Given the description of an element on the screen output the (x, y) to click on. 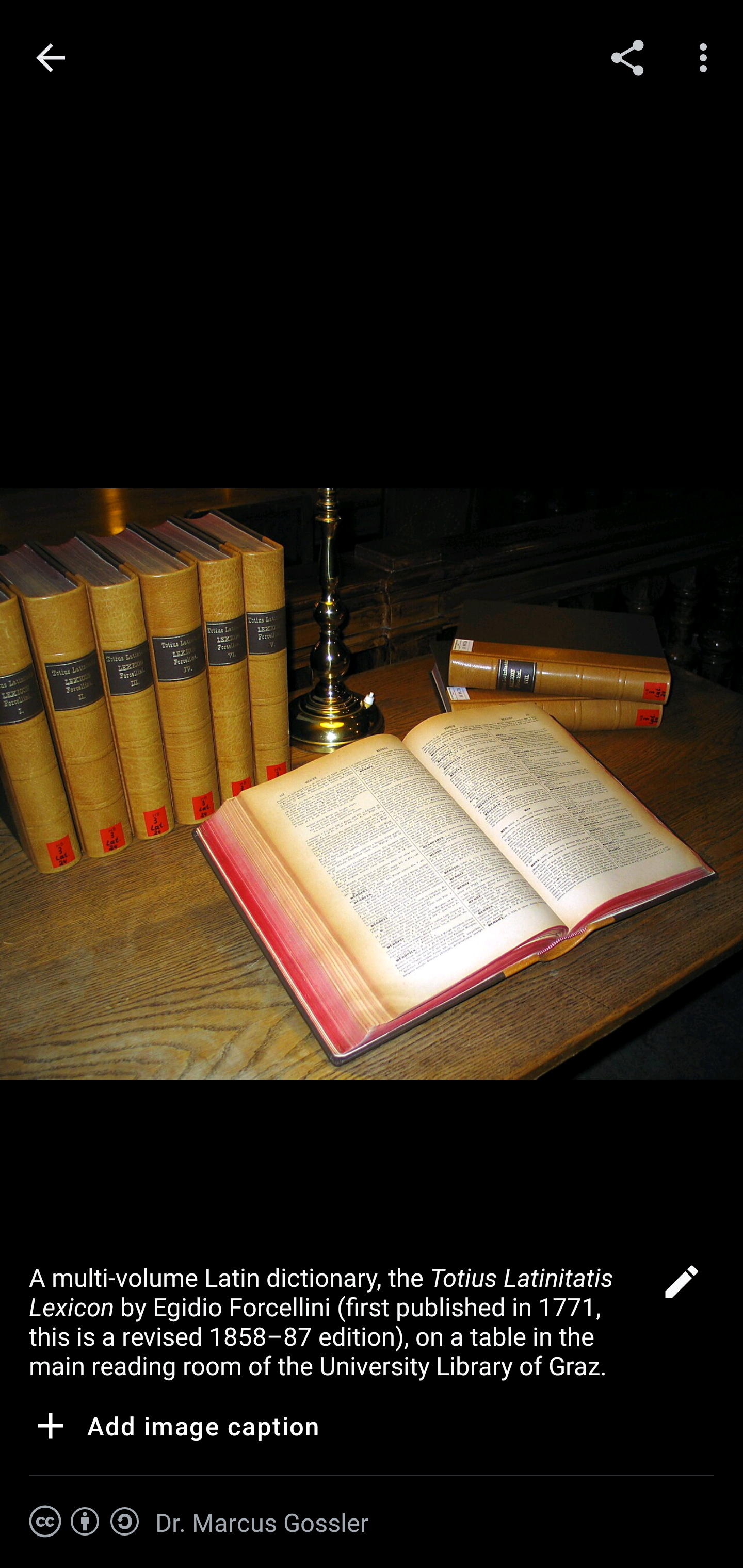
Navigate up (50, 57)
Share (626, 57)
More options (706, 57)
Edit image caption (681, 1286)
Add image caption (174, 1428)
CC BY-SA 3.0 (84, 1521)
